Given the description of an element on the screen output the (x, y) to click on. 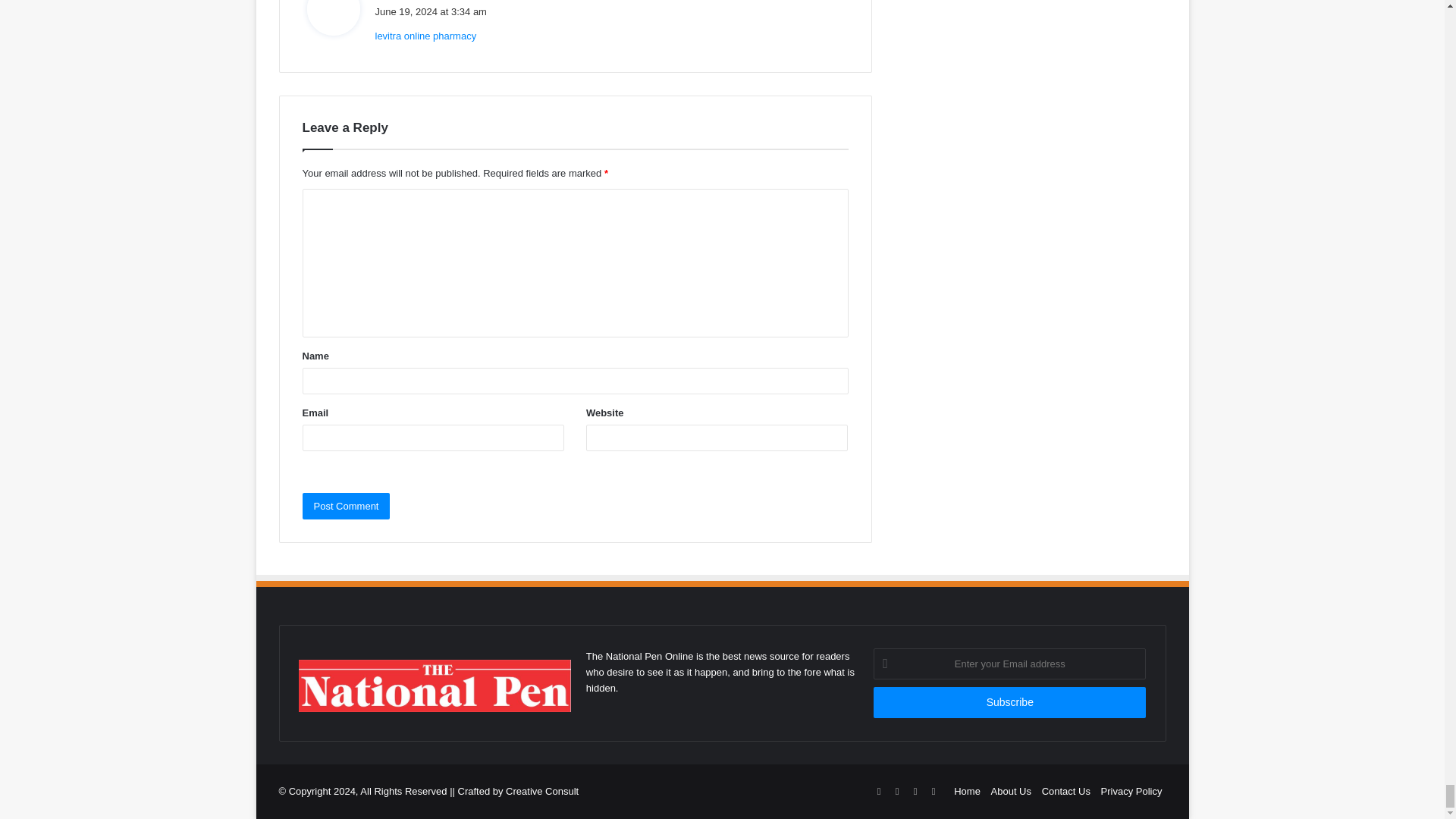
Subscribe (1009, 702)
Post Comment (345, 506)
